Given the description of an element on the screen output the (x, y) to click on. 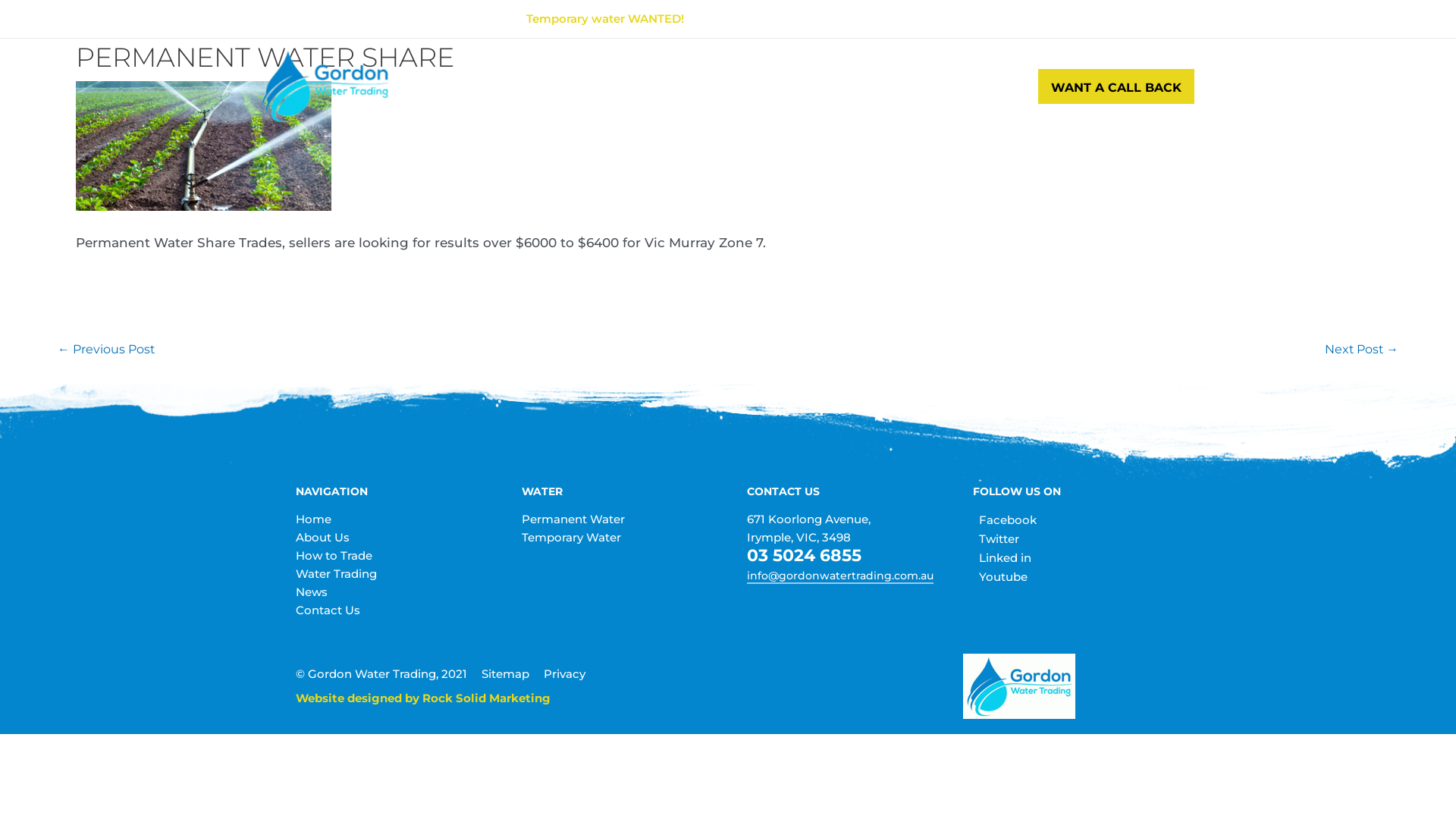
Facebook Element type: text (1003, 519)
Linked in Element type: text (1001, 557)
Youtube Element type: text (999, 576)
How to Trade Element type: text (333, 555)
Privacy Element type: text (564, 673)
WATER TRADING Element type: text (773, 85)
News Element type: text (311, 591)
Sitemap Element type: text (505, 673)
About Us Element type: text (322, 537)
Rock Solid Marketing Element type: text (486, 697)
HOME Element type: text (479, 85)
Home Element type: text (313, 518)
Temporary Water Element type: text (571, 537)
WANT A CALL BACK Element type: text (1116, 86)
HOW TO TRADE Element type: text (653, 85)
CONTACT US Element type: text (944, 85)
Permanent Water Element type: text (572, 518)
03 5024 6855 Element type: text (803, 555)
Contact Us Element type: text (327, 609)
NEWS Element type: text (864, 85)
ABOUT US Element type: text (551, 85)
Twitter Element type: text (995, 538)
info@gordonwatertrading.com.au Element type: text (839, 575)
0350246855 Element type: text (1130, 17)
Water Trading Element type: text (335, 573)
Search Element type: text (1015, 86)
